Given the description of an element on the screen output the (x, y) to click on. 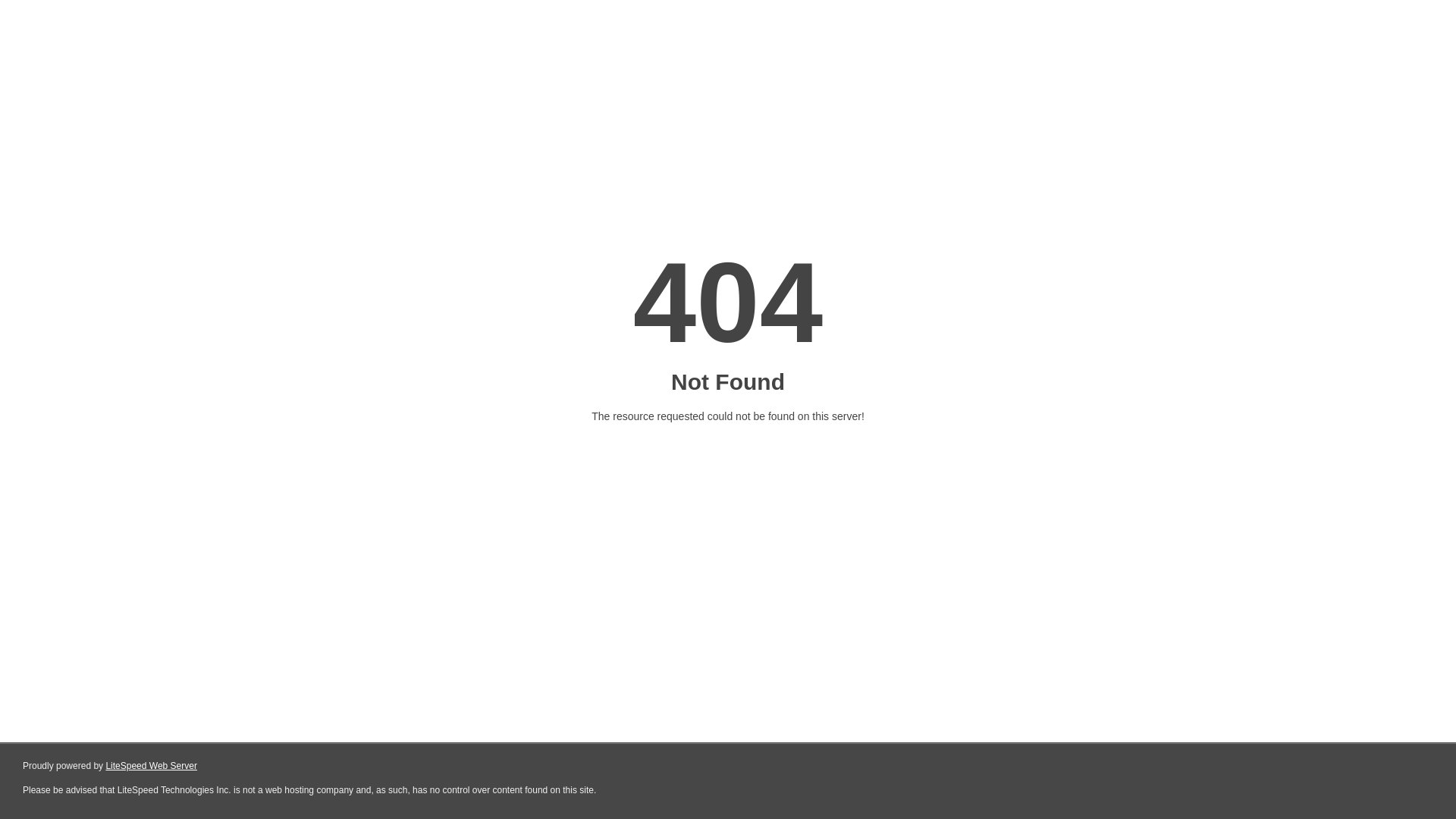
LiteSpeed Web Server Element type: text (151, 765)
